Given the description of an element on the screen output the (x, y) to click on. 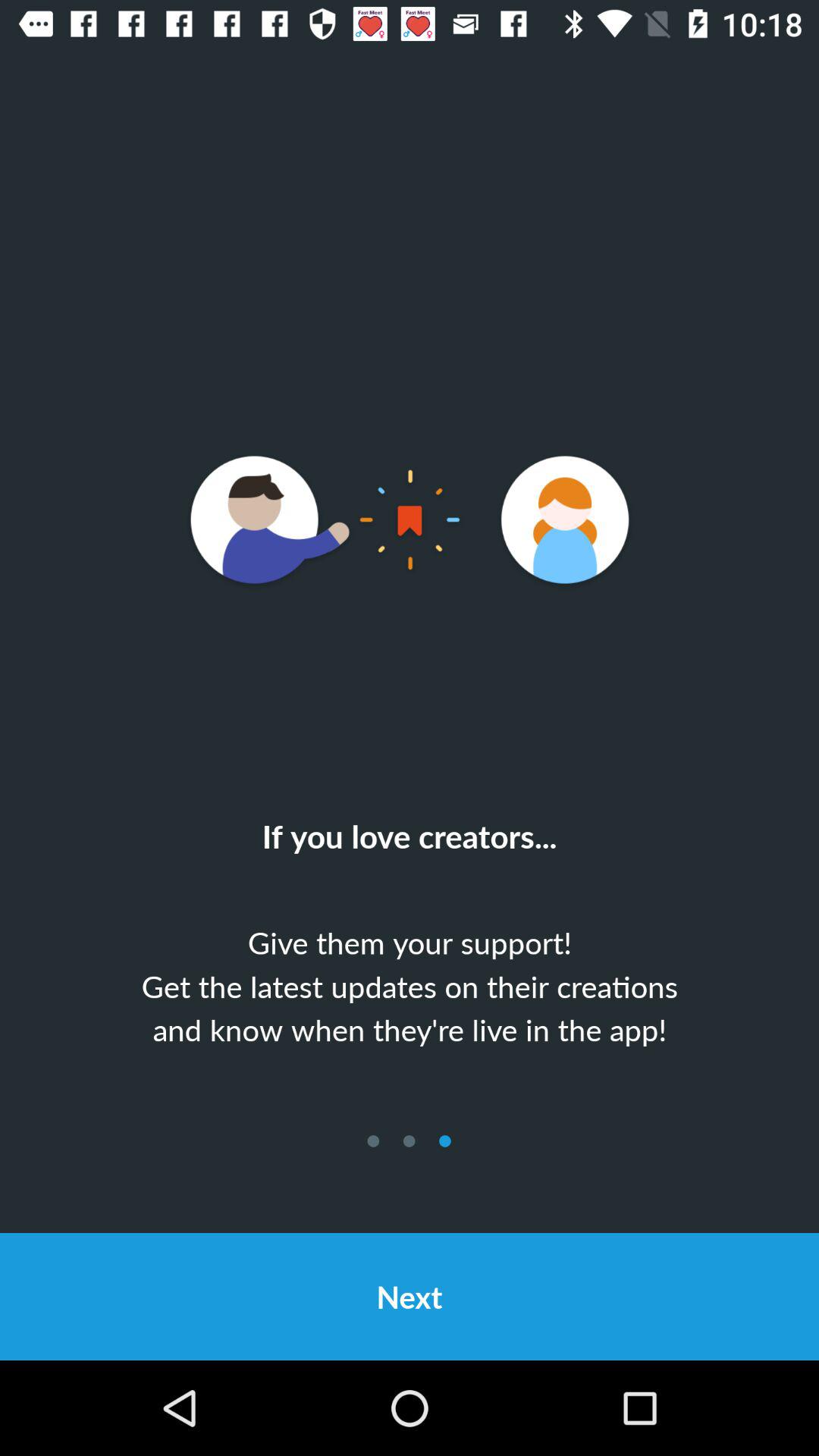
jump until the next (409, 1296)
